Given the description of an element on the screen output the (x, y) to click on. 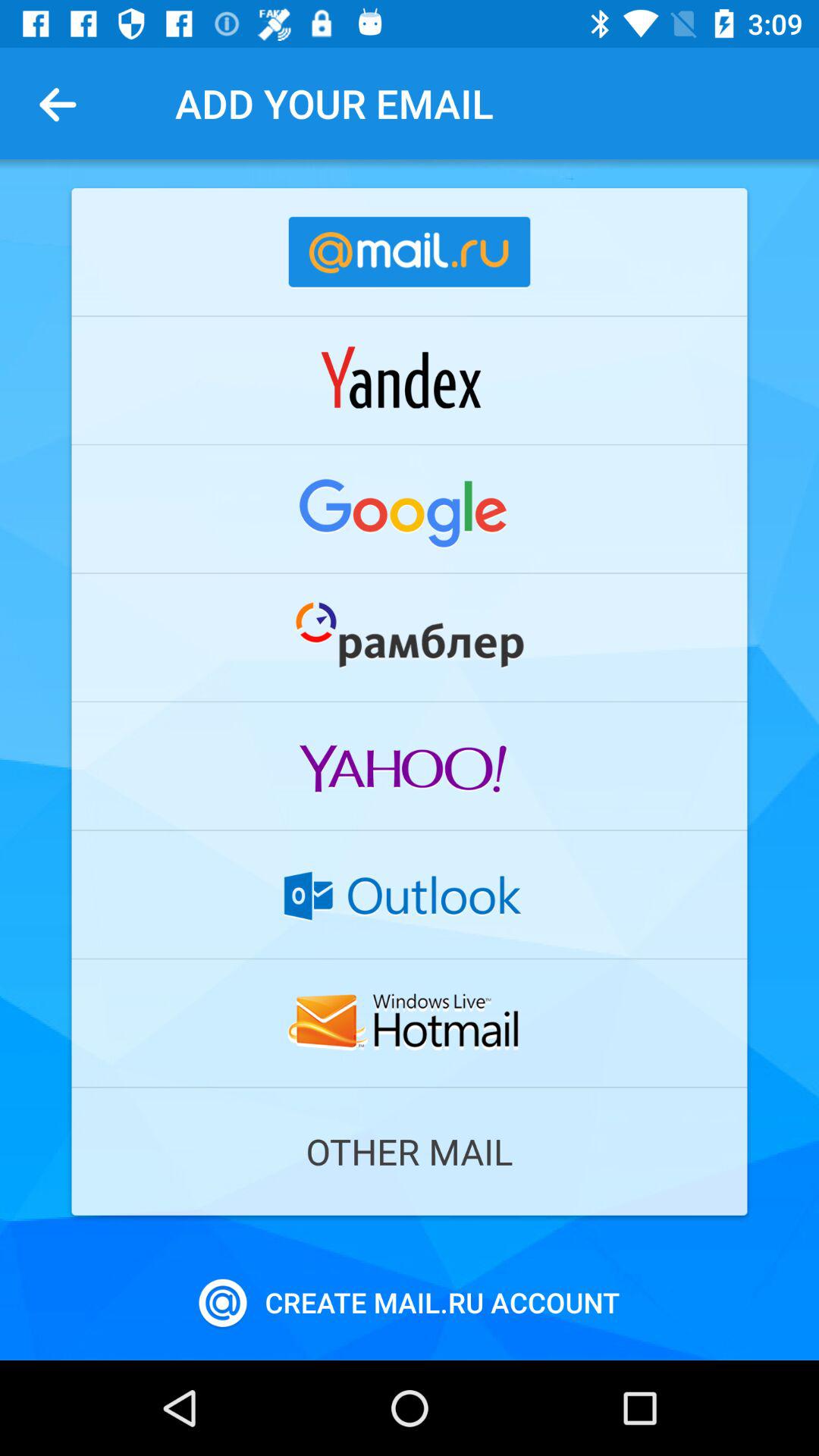
open yahoo log in (409, 765)
